Given the description of an element on the screen output the (x, y) to click on. 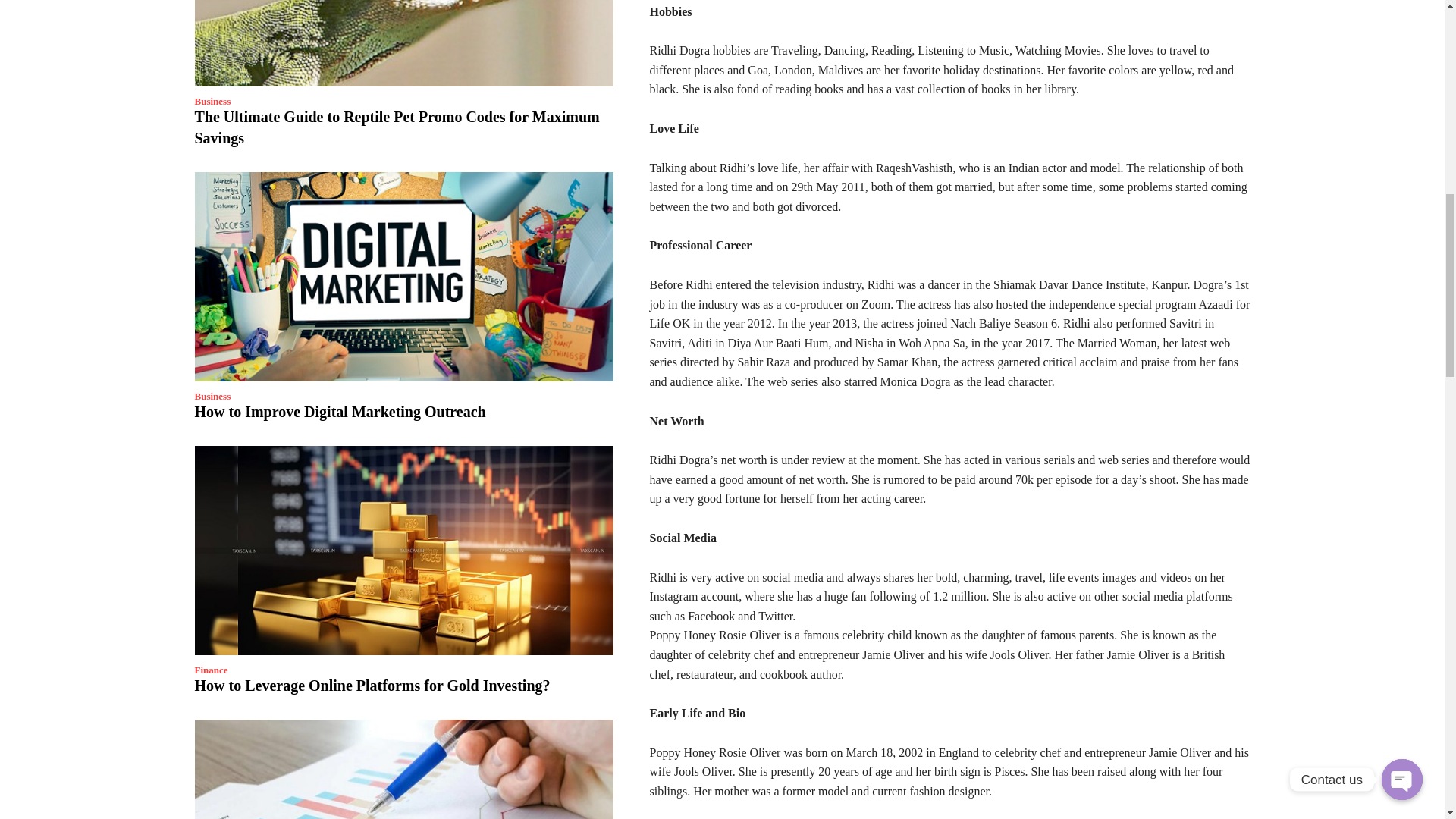
How to Leverage Online Platforms for Gold Investing? (371, 685)
How to Leverage Online Platforms for Gold Investing? (402, 550)
How to Improve Digital Marketing Outreach (402, 276)
How Can Your Business Experience Substantial Growth? (402, 769)
How to Improve Digital Marketing Outreach (338, 411)
